Given the description of an element on the screen output the (x, y) to click on. 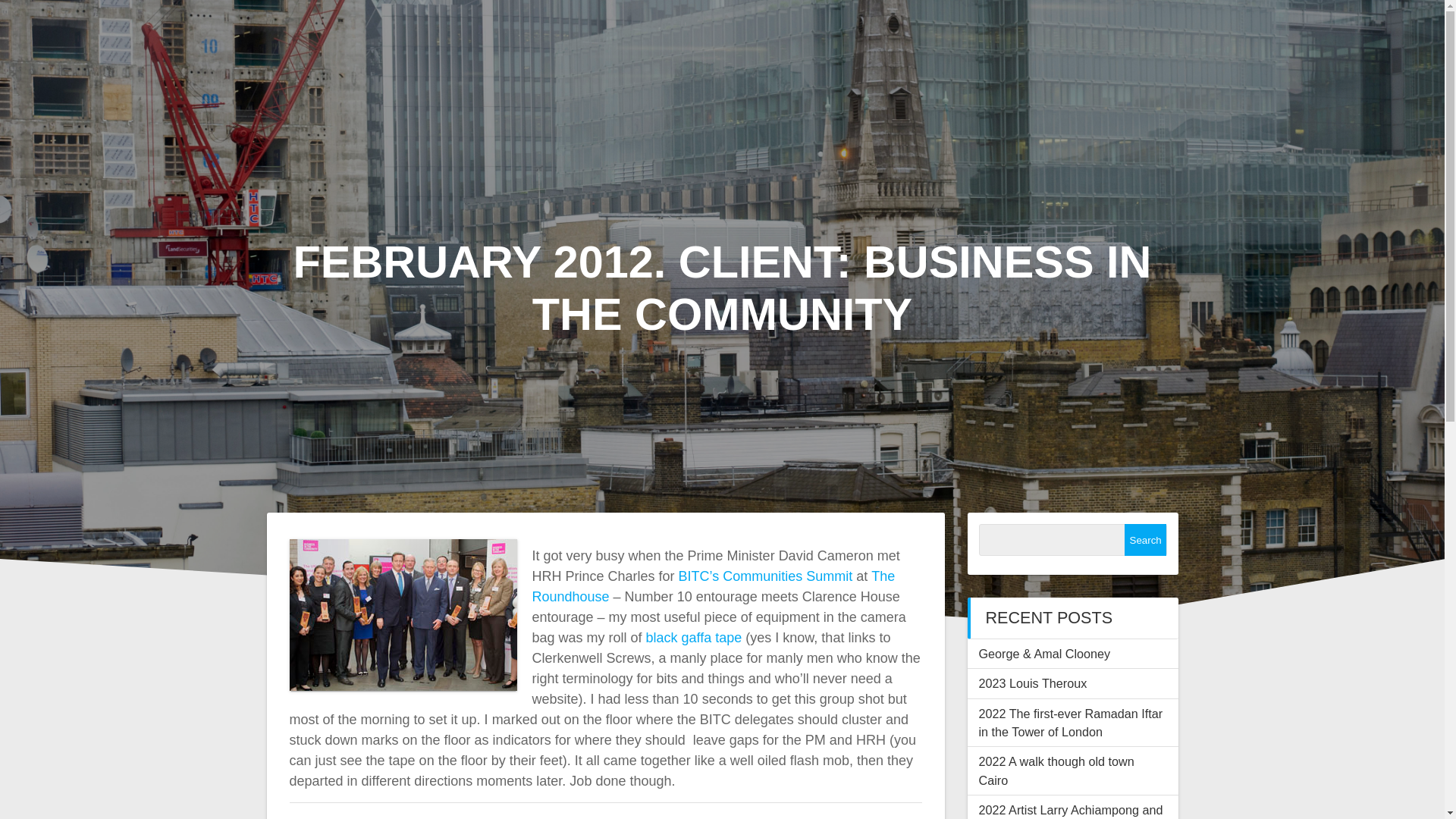
2023 Louis Theroux (1032, 683)
Search (1145, 540)
2022 A walk though old town Cairo (1056, 770)
2022 The first-ever Ramadan Iftar in the Tower of London (1069, 722)
Search (1145, 540)
POLICIES (1316, 259)
The Roundhouse (713, 586)
black gaffa tape (694, 637)
PrimeMinister-David-Cameron-HRH-Prince-Charles-BITC (402, 614)
